Given the description of an element on the screen output the (x, y) to click on. 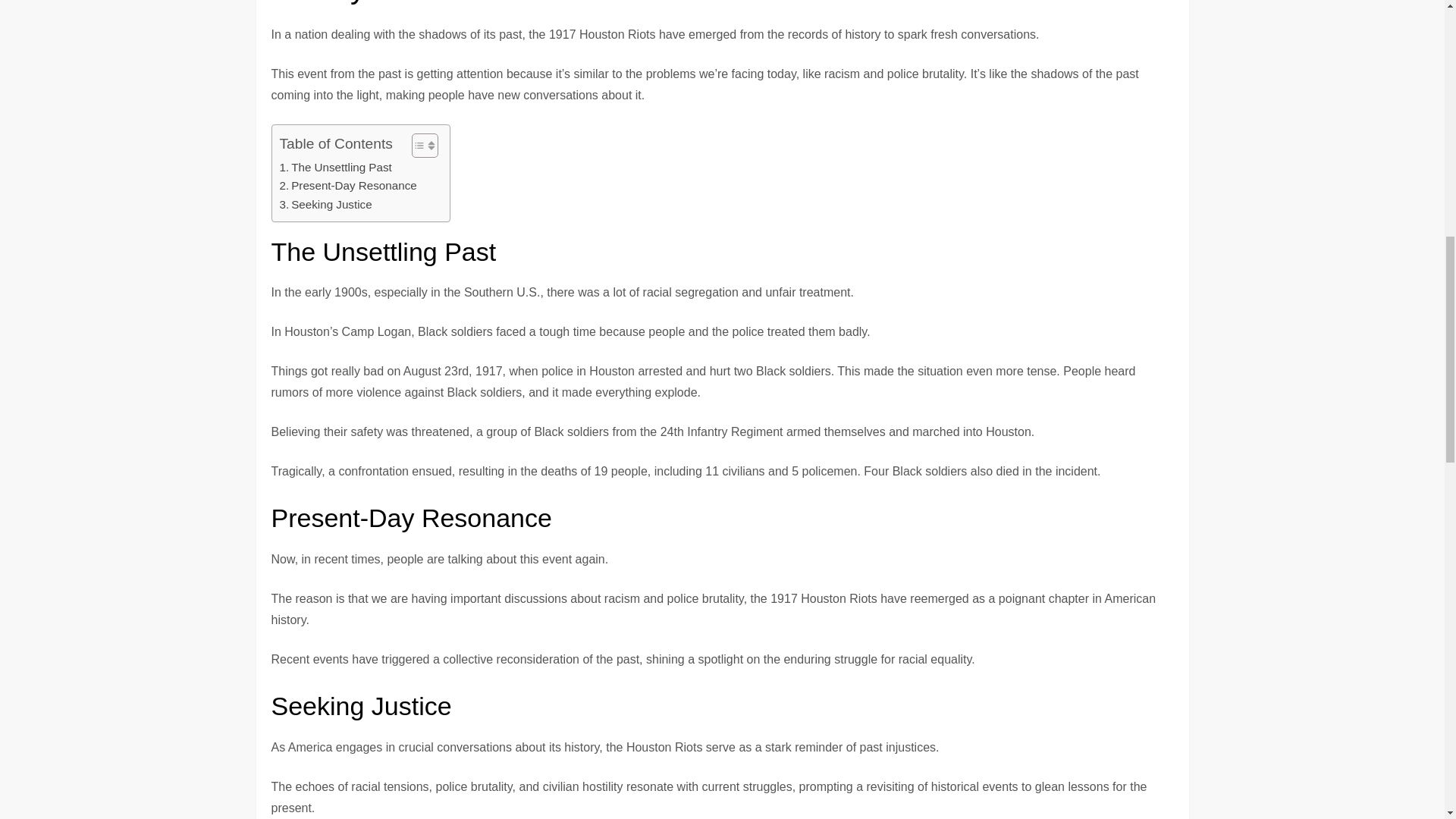
Present-Day Resonance (347, 185)
The Unsettling Past (335, 167)
Present-Day Resonance (347, 185)
The Unsettling Past (335, 167)
Seeking Justice (325, 204)
Seeking Justice (325, 204)
